Given the description of an element on the screen output the (x, y) to click on. 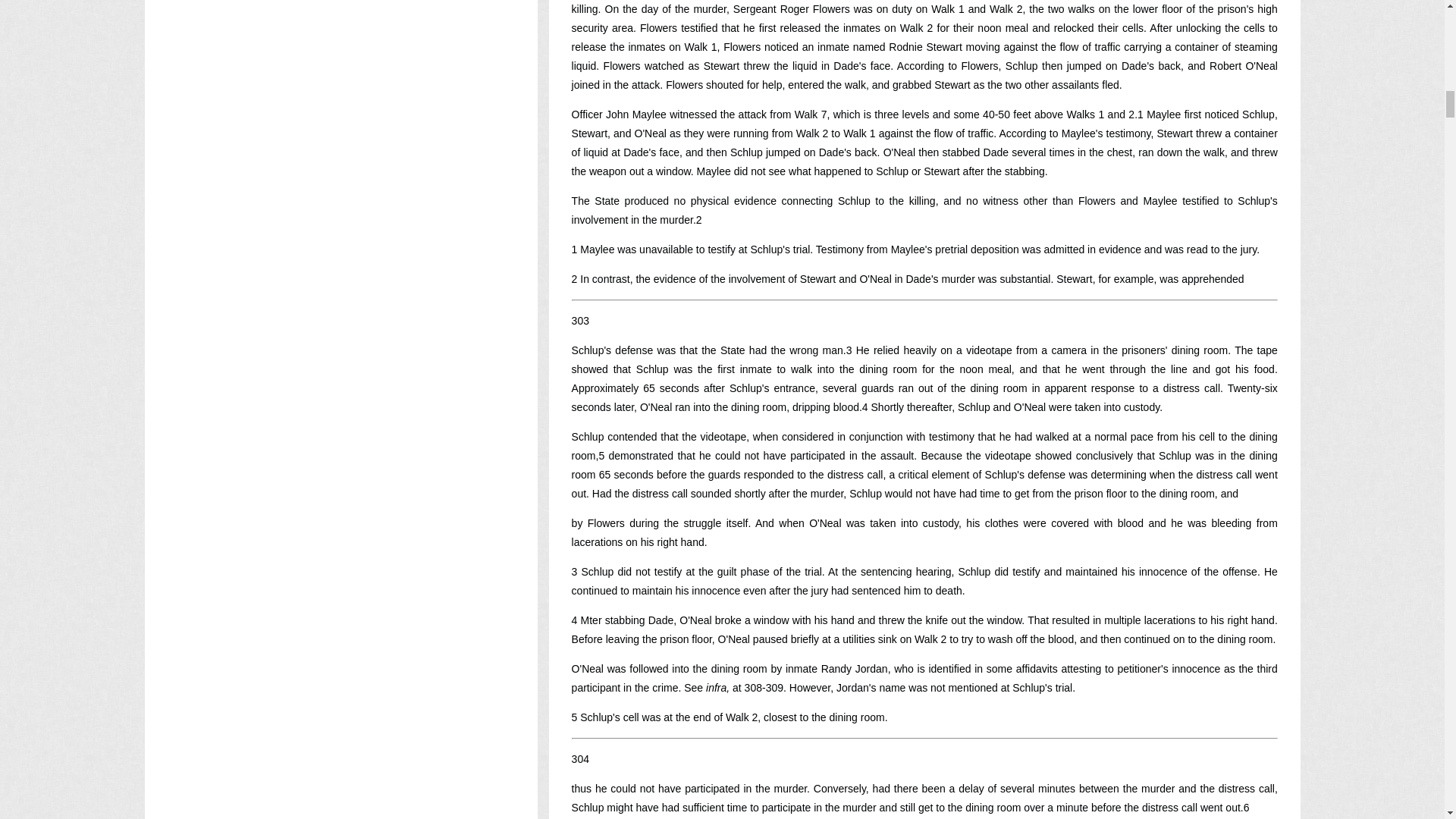
303 (580, 320)
304 (580, 758)
